Given the description of an element on the screen output the (x, y) to click on. 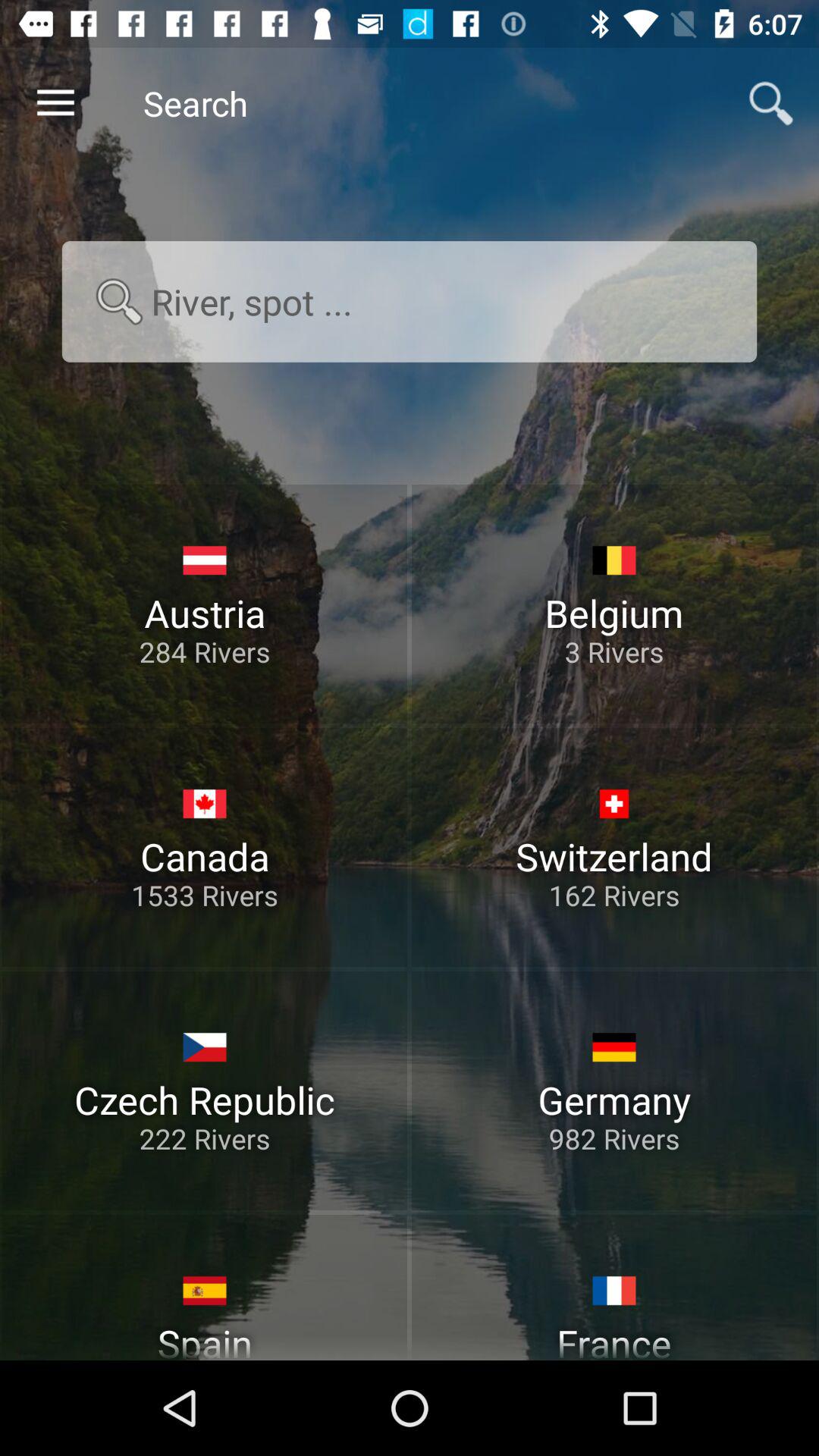
go to search (409, 301)
